Given the description of an element on the screen output the (x, y) to click on. 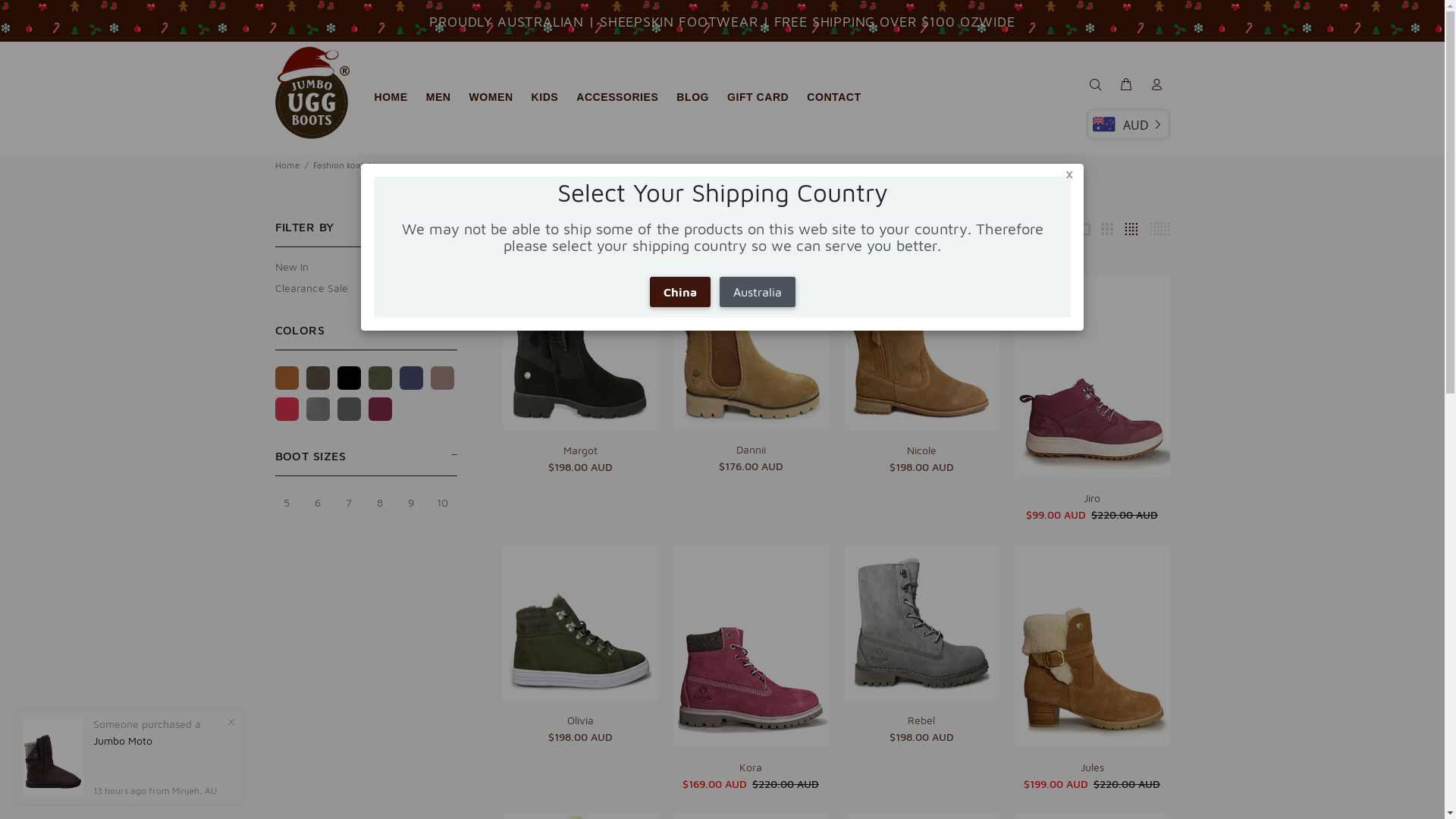
Kora Element type: text (750, 766)
ACCESSORIES Element type: text (617, 97)
8 Element type: text (380, 502)
Peach Element type: text (380, 408)
Grey Element type: text (317, 408)
WOMEN Element type: text (491, 97)
Jester red Element type: text (286, 408)
China Element type: text (679, 291)
Dannii Element type: text (750, 448)
MEN Element type: text (438, 97)
Rebel Element type: text (921, 719)
Khaki Element type: text (380, 377)
Clearance Sale Element type: text (365, 285)
BLOG Element type: text (692, 97)
Navy blue Element type: text (410, 377)
HOME Element type: text (391, 97)
Home Element type: text (286, 164)
Charcoal Element type: text (348, 408)
6 Element type: text (317, 502)
KIDS Element type: text (544, 97)
Black Element type: text (348, 377)
GIFT CARD Element type: text (757, 97)
7 Element type: text (348, 502)
5 Element type: text (286, 502)
CONTACT Element type: text (828, 97)
New In Element type: text (365, 266)
Olivia Element type: text (580, 719)
9 Element type: text (410, 502)
10 Element type: text (442, 502)
Jiro Element type: text (1091, 497)
Chocolate Element type: text (317, 377)
Jules Element type: text (1091, 766)
Mink Element type: text (442, 377)
Chestnut Element type: text (286, 377)
Jumbo Moto Element type: text (122, 740)
Margot Element type: text (579, 449)
Nicole Element type: text (921, 449)
